Given the description of an element on the screen output the (x, y) to click on. 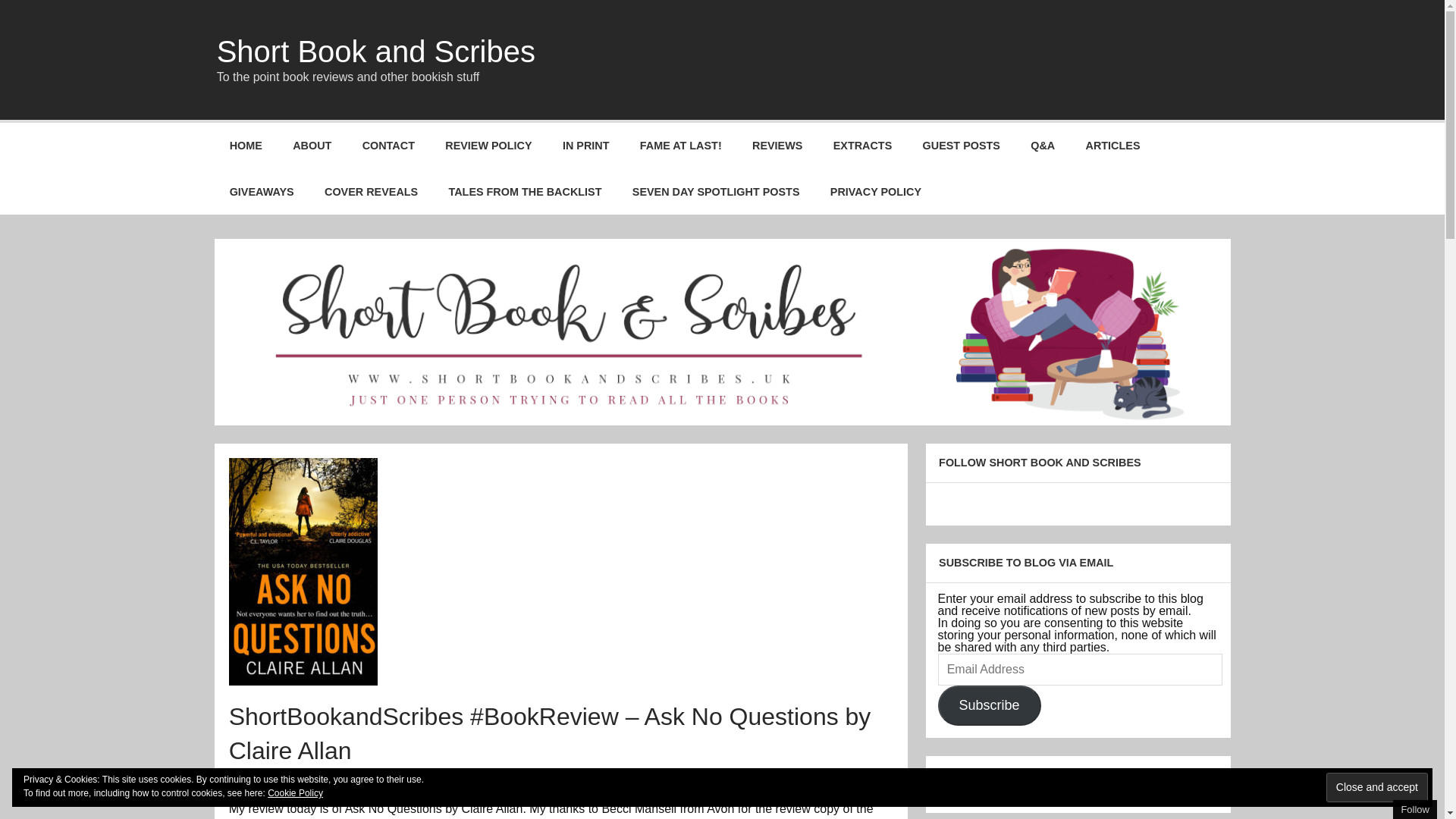
COVER REVEALS (370, 191)
PRIVACY POLICY (876, 191)
Follow Button (1077, 500)
GUEST POSTS (960, 145)
EXTRACTS (862, 145)
SEVEN DAY SPOTLIGHT POSTS (716, 191)
GIVEAWAYS (261, 191)
FAME AT LAST! (680, 145)
Nicola (423, 778)
Short Book and Scribes (375, 51)
